Given the description of an element on the screen output the (x, y) to click on. 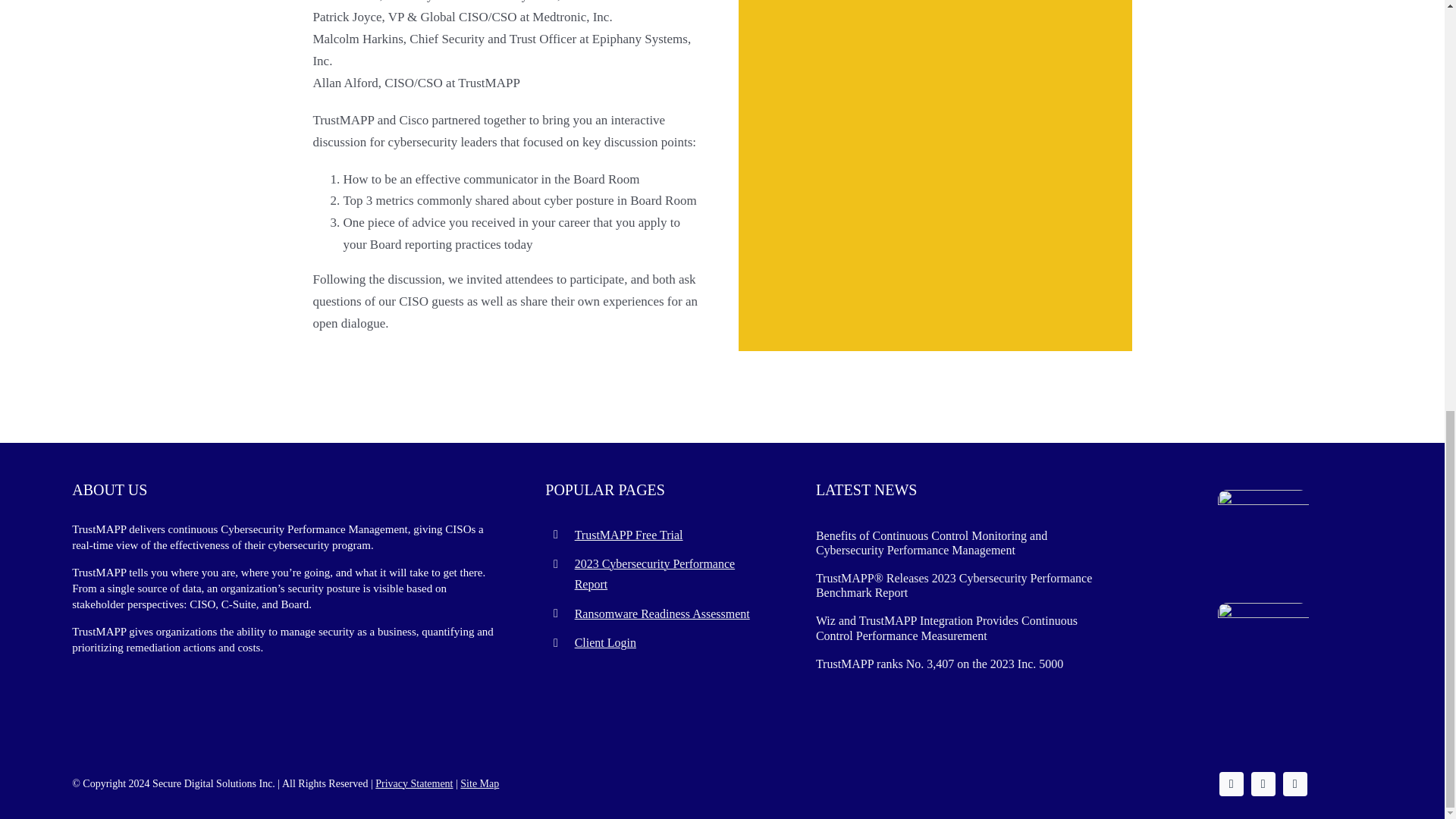
X (1231, 784)
LinkedIn (1262, 784)
YouTube (1294, 784)
